Given the description of an element on the screen output the (x, y) to click on. 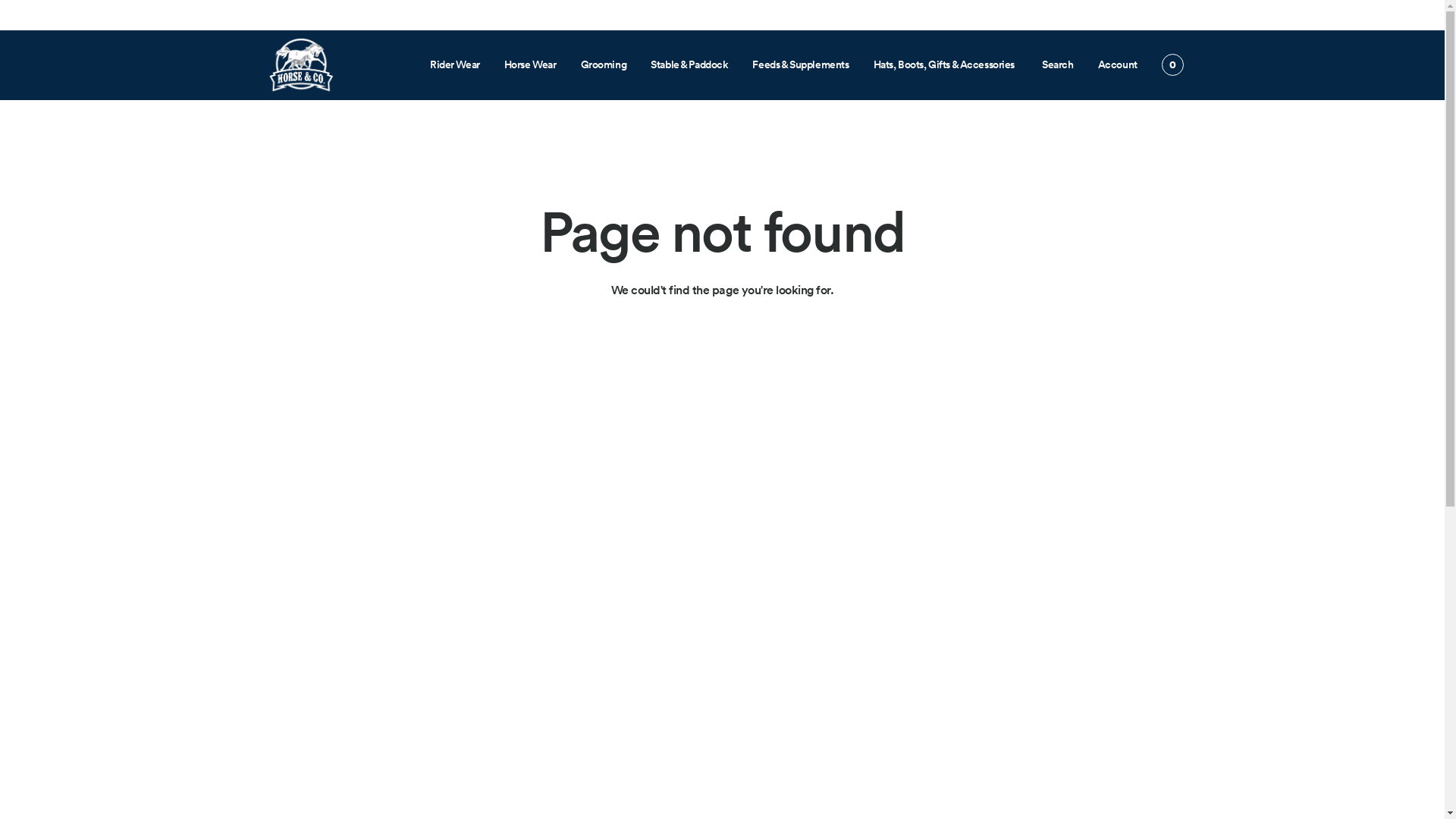
Grooming Element type: text (603, 64)
Rider Wear Element type: text (454, 64)
Search Element type: text (1057, 64)
Stable & Paddock Element type: text (689, 64)
Account Element type: text (1117, 64)
Hats, Boots, Gifts & Accessories Element type: text (944, 64)
Horse Wear Element type: text (530, 64)
0 in cart, view bag
0 Element type: text (1172, 64)
Feeds & Supplements Element type: text (800, 64)
Workflow Element type: text (299, 65)
